Given the description of an element on the screen output the (x, y) to click on. 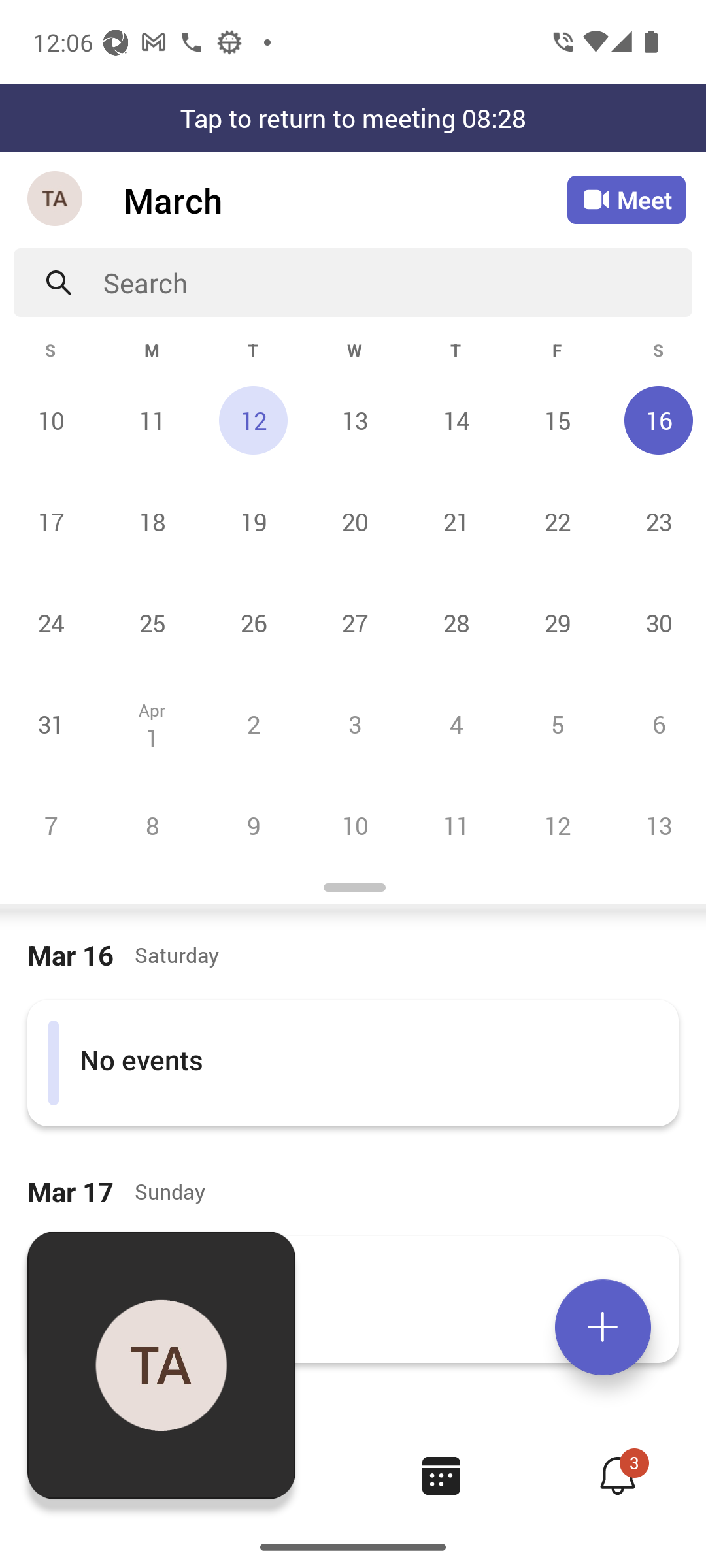
Tap to return to meeting 08:28 (353, 117)
Navigation (56, 199)
Meet Meet now or join with an ID (626, 199)
Search (397, 281)
Sunday, March 10 10 (50, 420)
Monday, March 11 11 (151, 420)
Tuesday, March 12, Today 12 (253, 420)
Wednesday, March 13 13 (354, 420)
Thursday, March 14 14 (455, 420)
Friday, March 15 15 (556, 420)
Saturday, March 16, Selected 16 (656, 420)
Sunday, March 17 17 (50, 521)
Monday, March 18 18 (151, 521)
Tuesday, March 19 19 (253, 521)
Wednesday, March 20 20 (354, 521)
Thursday, March 21 21 (455, 521)
Friday, March 22 22 (556, 521)
Saturday, March 23 23 (656, 521)
Sunday, March 24 24 (50, 623)
Monday, March 25 25 (151, 623)
Tuesday, March 26 26 (253, 623)
Wednesday, March 27 27 (354, 623)
Thursday, March 28 28 (455, 623)
Friday, March 29 29 (556, 623)
Saturday, March 30 30 (656, 623)
Sunday, March 31 31 (50, 724)
Monday, April 1 Apr 1 (151, 724)
Tuesday, April 2 2 (253, 724)
Wednesday, April 3 3 (354, 724)
Thursday, April 4 4 (455, 724)
Friday, April 5 5 (556, 724)
Saturday, April 6 6 (656, 724)
Sunday, April 7 7 (50, 825)
Monday, April 8 8 (151, 825)
Tuesday, April 9 9 (253, 825)
Wednesday, April 10 10 (354, 825)
Thursday, April 11 11 (455, 825)
Friday, April 12 12 (556, 825)
Saturday, April 13 13 (656, 825)
Expand meetings menu (602, 1327)
Calendar tab, 3 of 4 (441, 1475)
Activity tab,4 of 4, not selected, 3 new 3 (617, 1475)
